Given the description of an element on the screen output the (x, y) to click on. 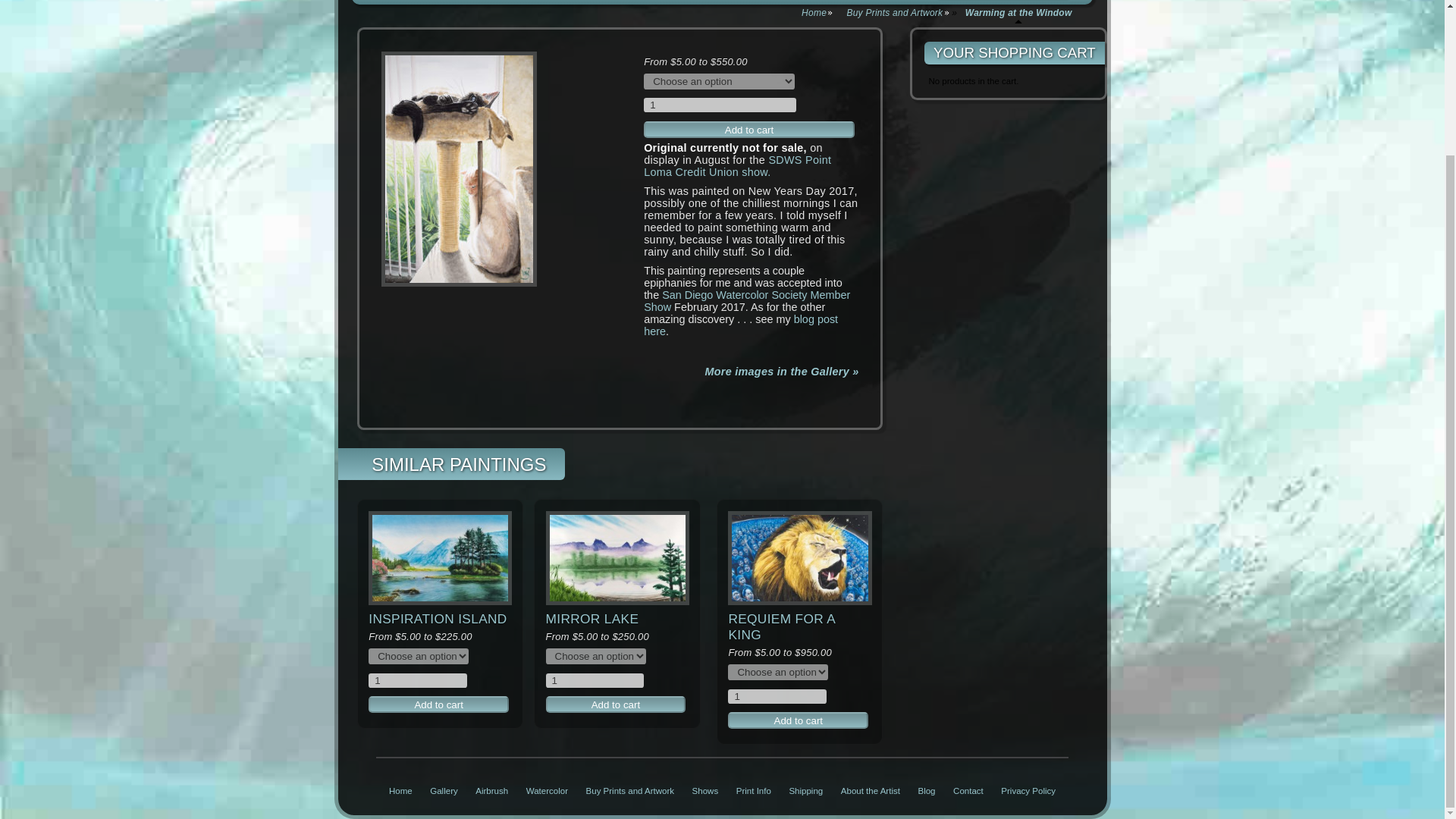
MIRROR LAKE (592, 617)
Add to cart (438, 704)
Watercolor (546, 790)
INSPIRATION ISLAND (437, 617)
1 (416, 680)
Gallery (443, 790)
Shows, Exhibitions, and Events (706, 790)
Qty (416, 680)
Qty (594, 680)
Add to cart (615, 704)
1 (594, 680)
Home (400, 790)
Airbrush (492, 790)
